Given the description of an element on the screen output the (x, y) to click on. 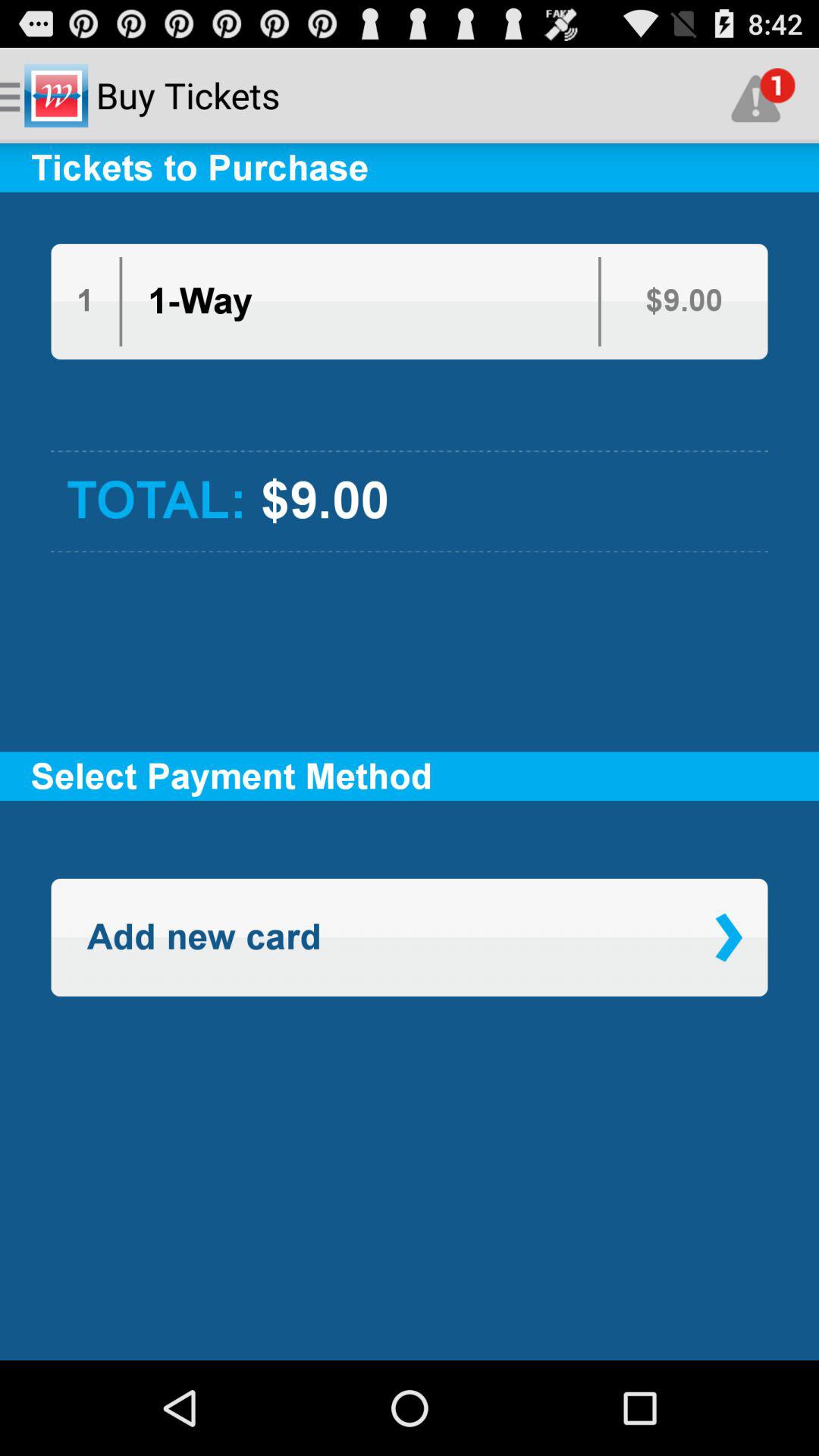
scroll to add new card (204, 937)
